Given the description of an element on the screen output the (x, y) to click on. 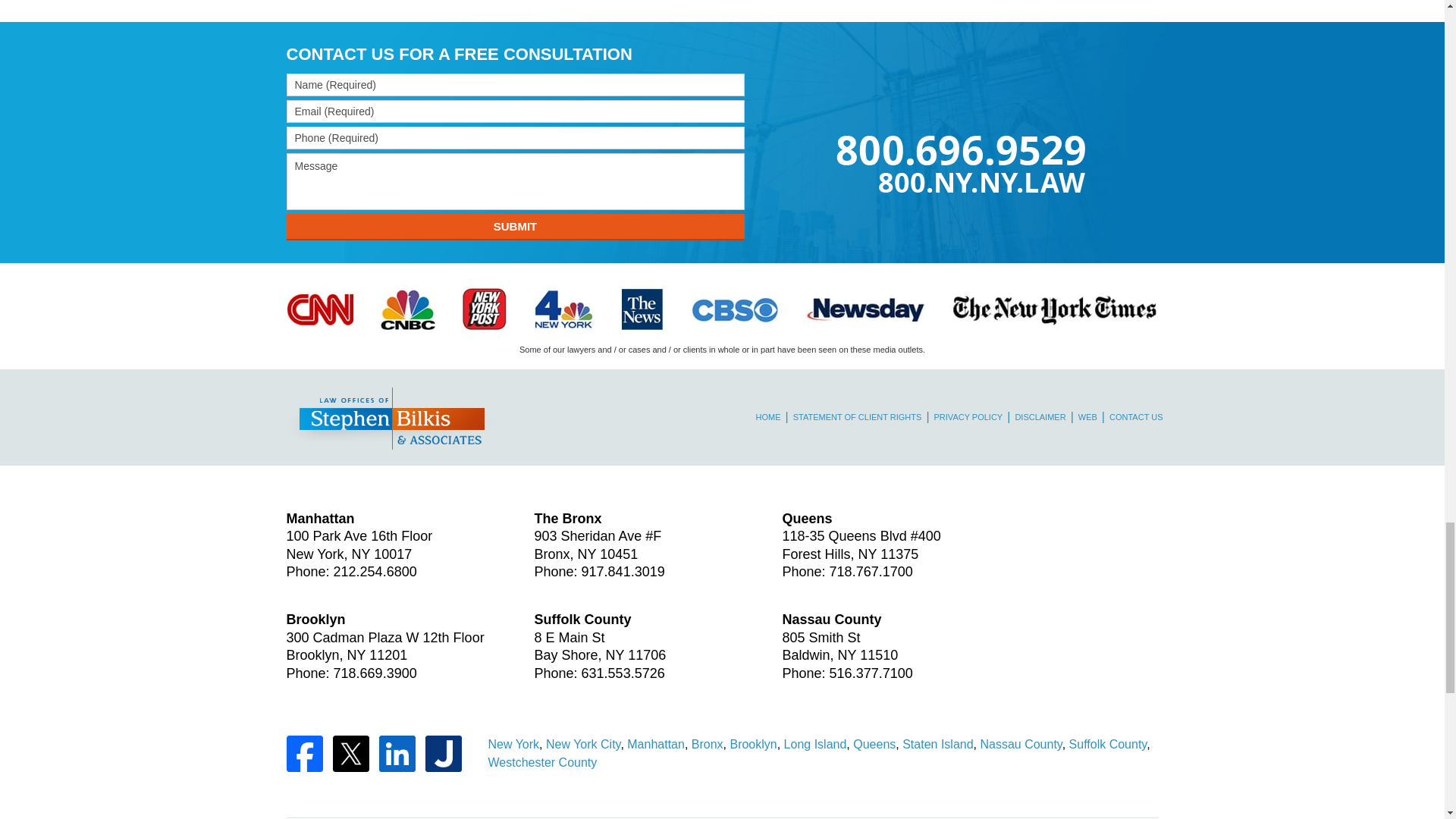
Justia (443, 753)
LinkedIn (396, 753)
Facebook (304, 753)
Message (515, 181)
Twitter (349, 753)
